Given the description of an element on the screen output the (x, y) to click on. 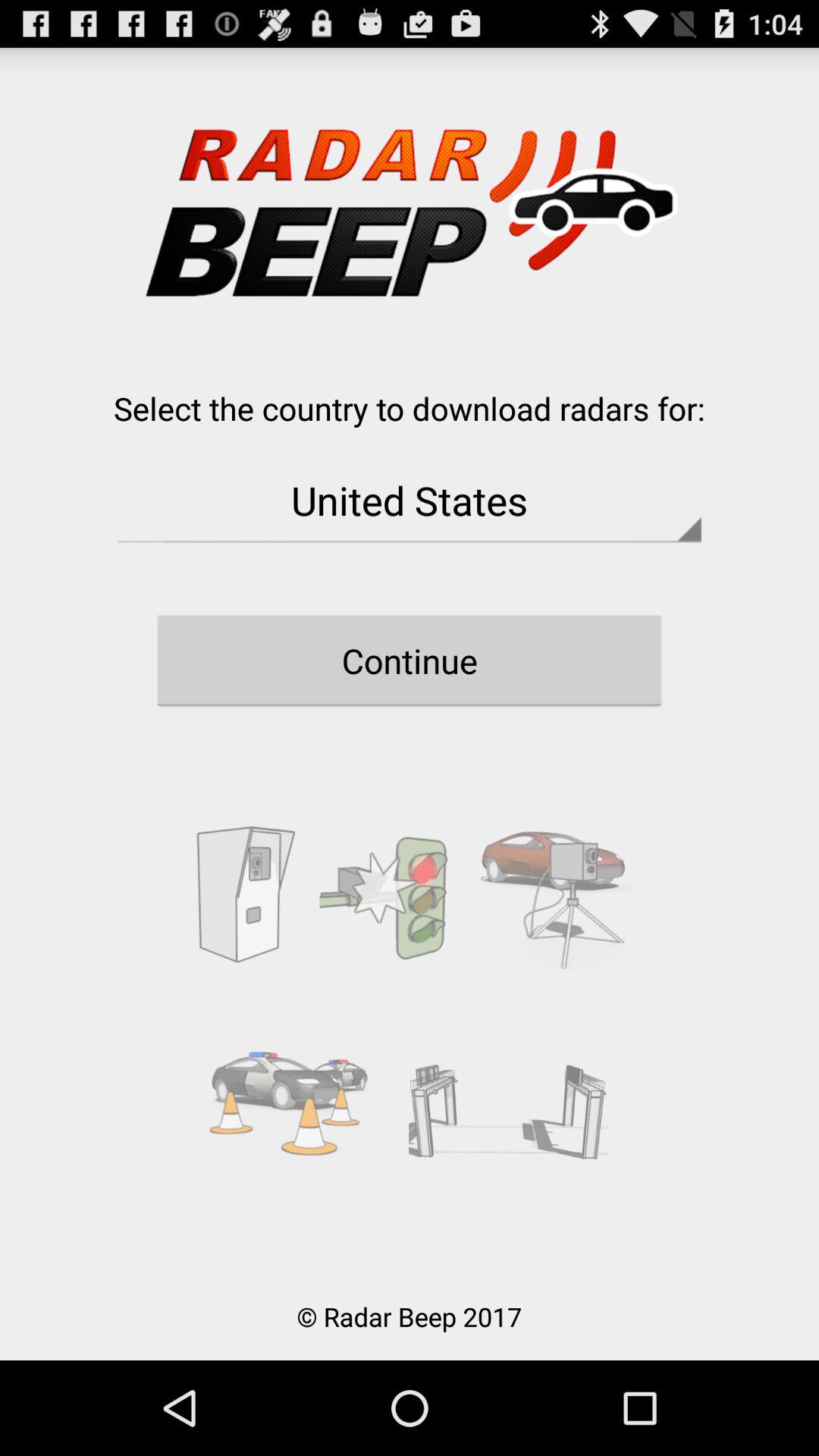
click united states (409, 499)
